Given the description of an element on the screen output the (x, y) to click on. 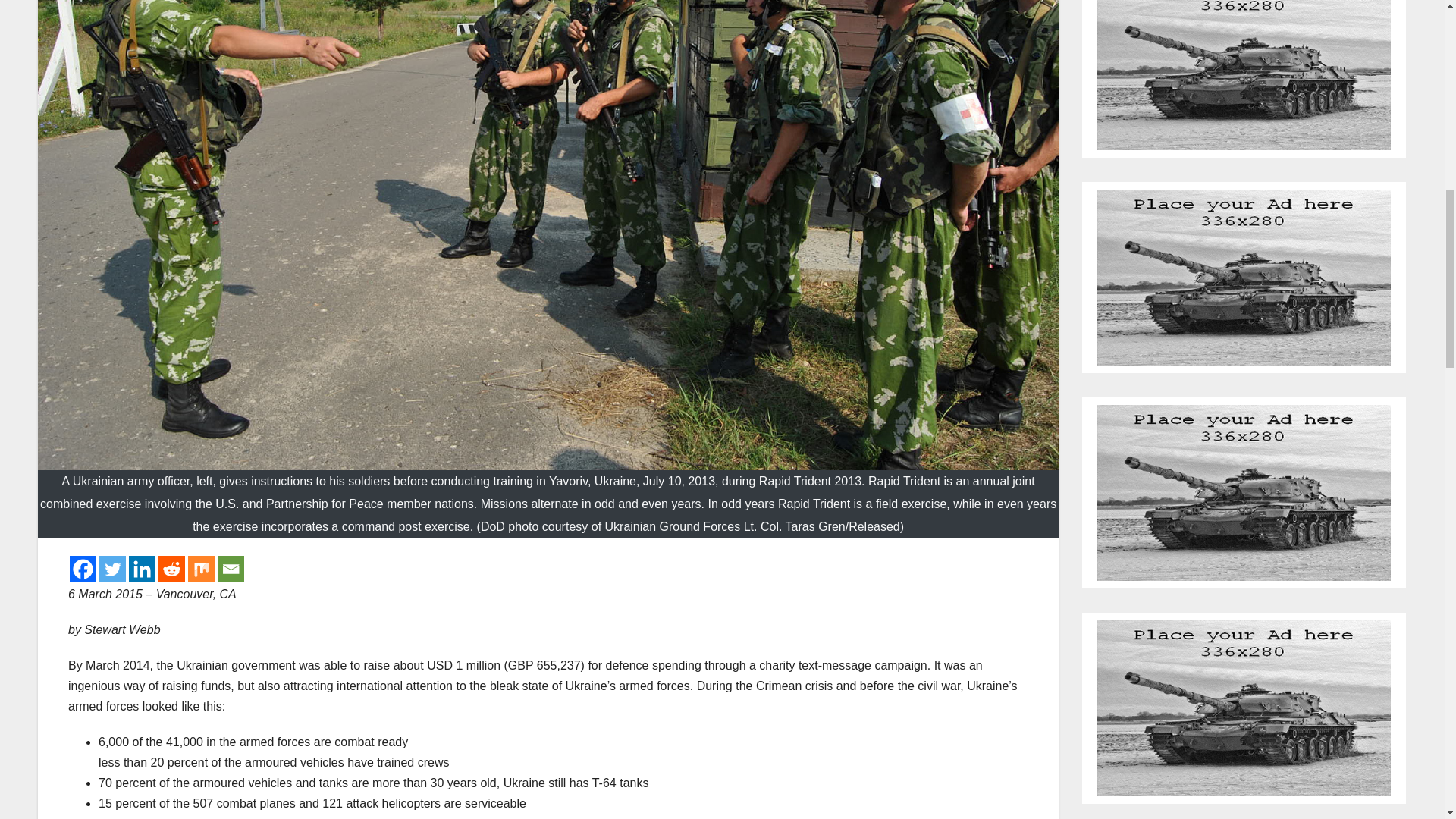
Reddit (171, 569)
Twitter (112, 569)
Linkedin (142, 569)
Facebook (82, 569)
